Given the description of an element on the screen output the (x, y) to click on. 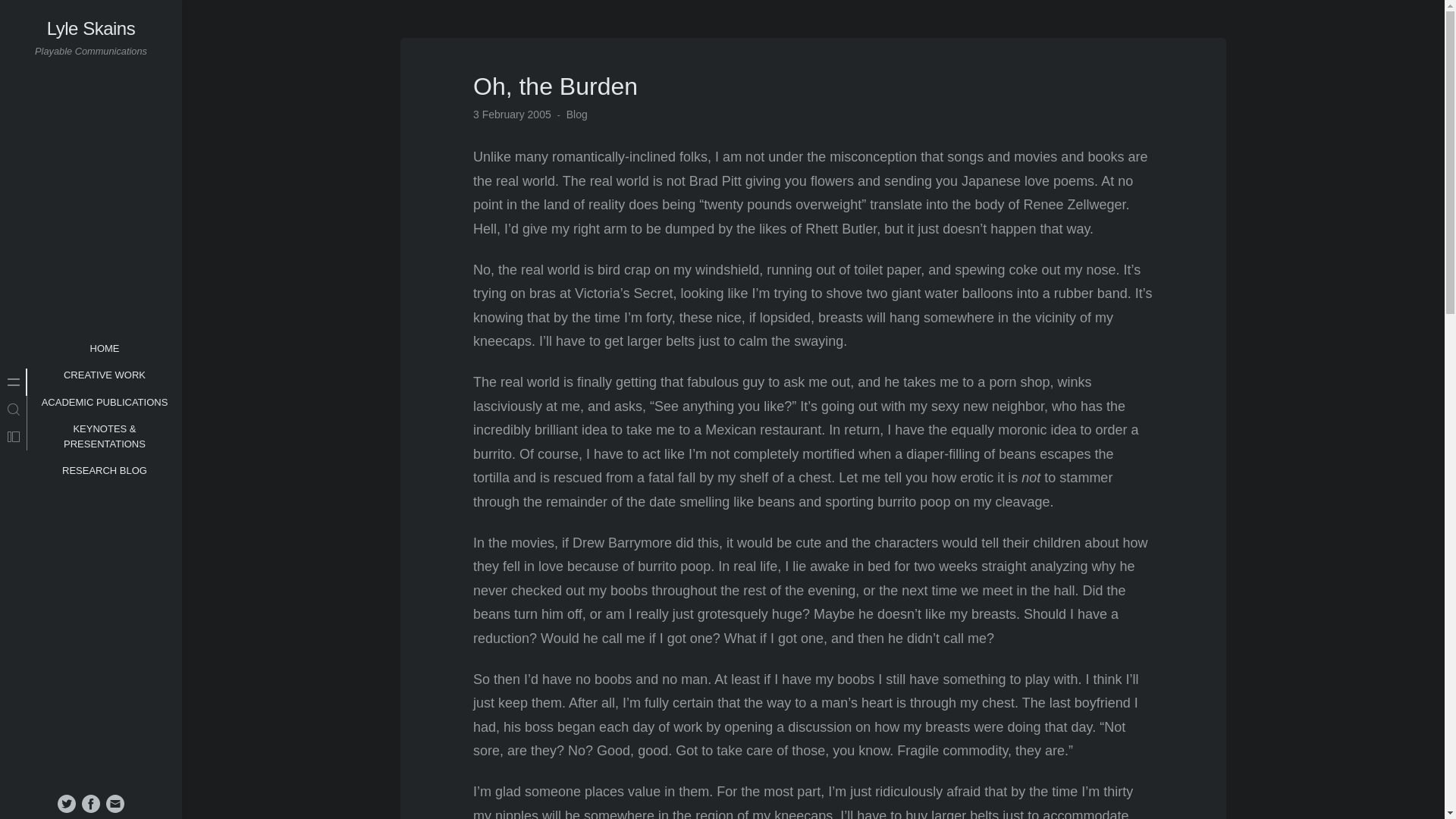
HOME (103, 348)
Lyle Skains (90, 28)
ACADEMIC PUBLICATIONS (105, 401)
RESEARCH BLOG (104, 470)
CREATIVE WORK (104, 374)
